Given the description of an element on the screen output the (x, y) to click on. 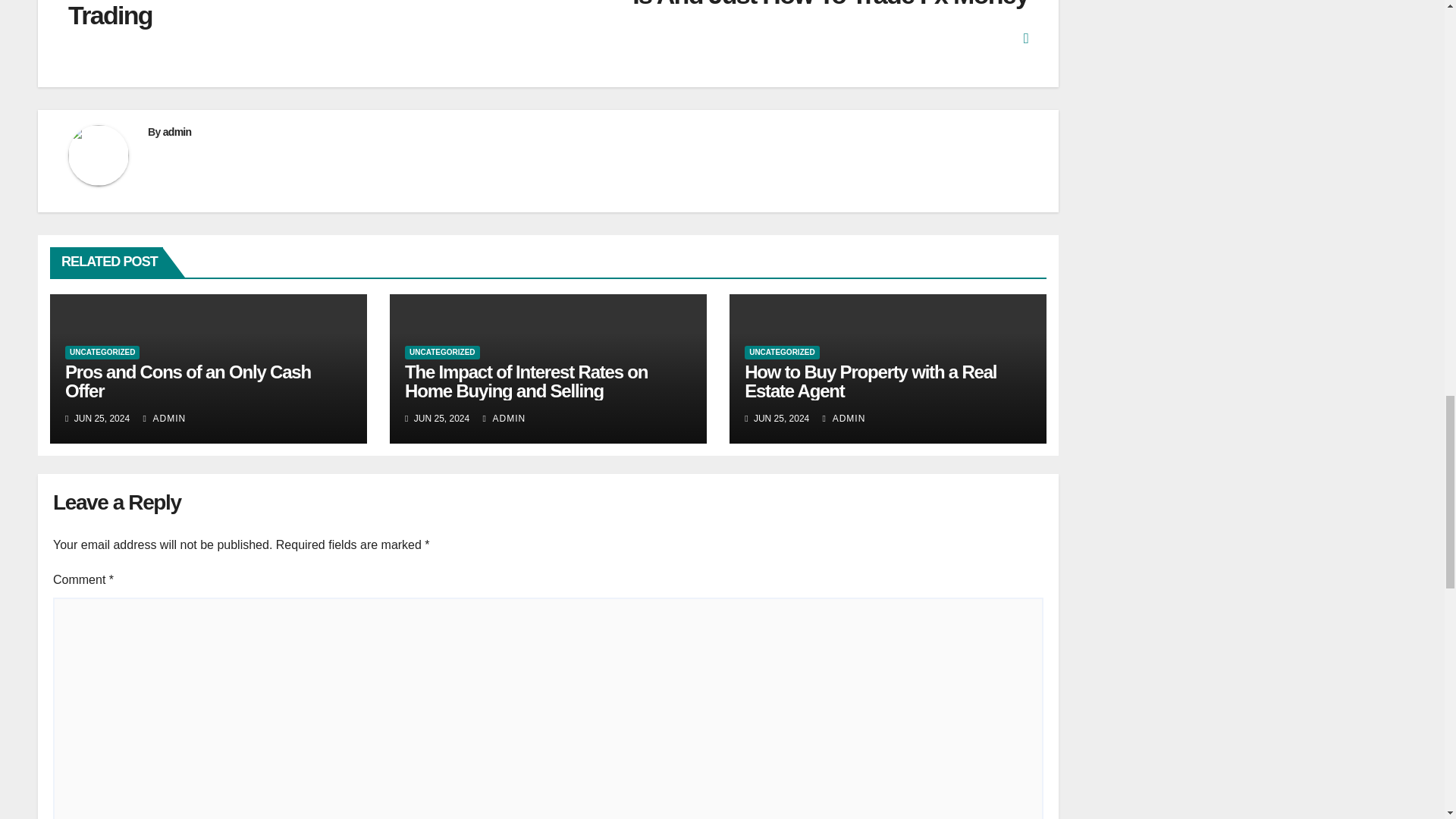
UNCATEGORIZED (441, 352)
Permalink to: Pros and Cons of an Only Cash Offer (188, 381)
UNCATEGORIZED (102, 352)
Pros and Cons of an Only Cash Offer (188, 381)
Permalink to: How to Buy Property with a Real Estate Agent (869, 381)
On The Internet Stockbroking Low Fees Trading (308, 15)
ADMIN (164, 418)
admin (177, 132)
